Given the description of an element on the screen output the (x, y) to click on. 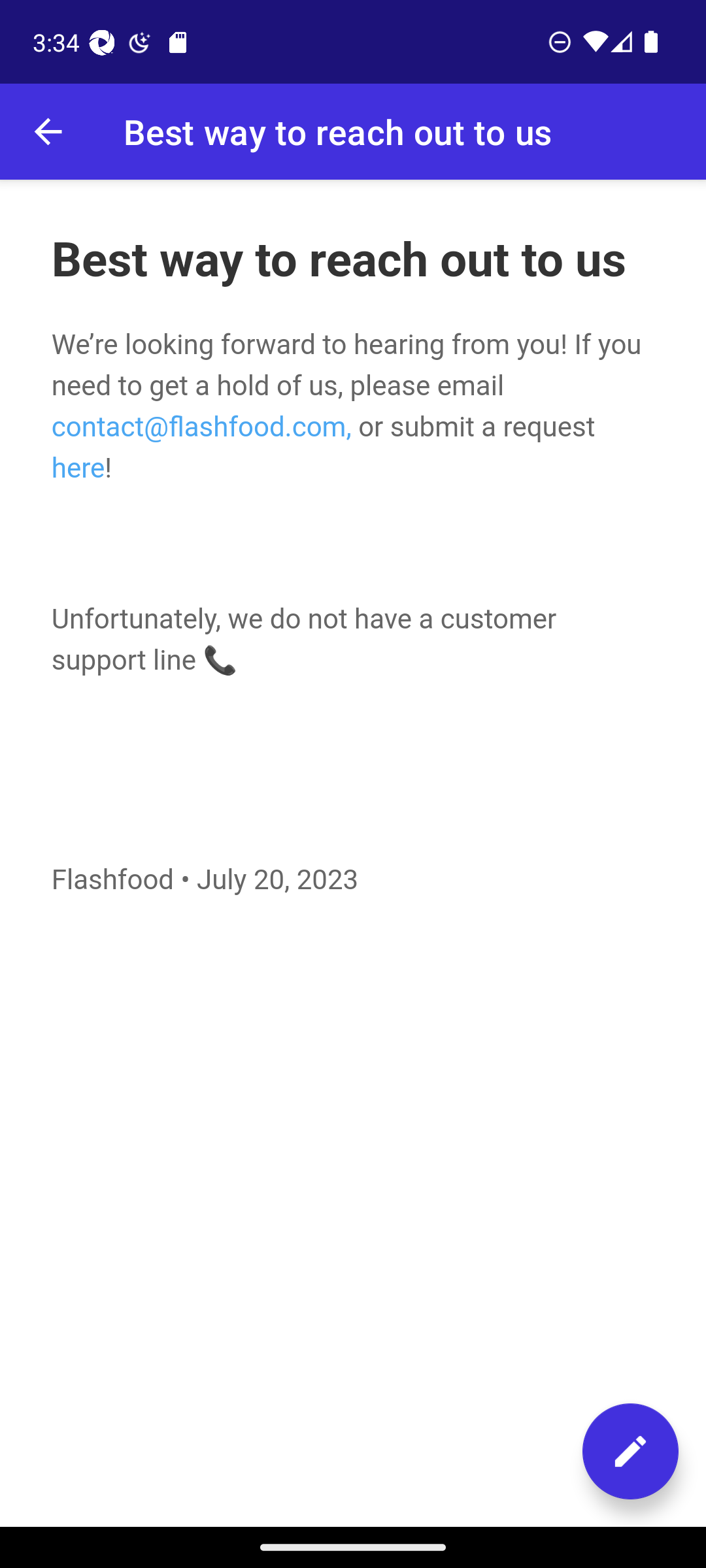
Navigate up (48, 131)
contact@flashfood.com, (200, 426)
here (77, 467)
Contact us (630, 1451)
